Given the description of an element on the screen output the (x, y) to click on. 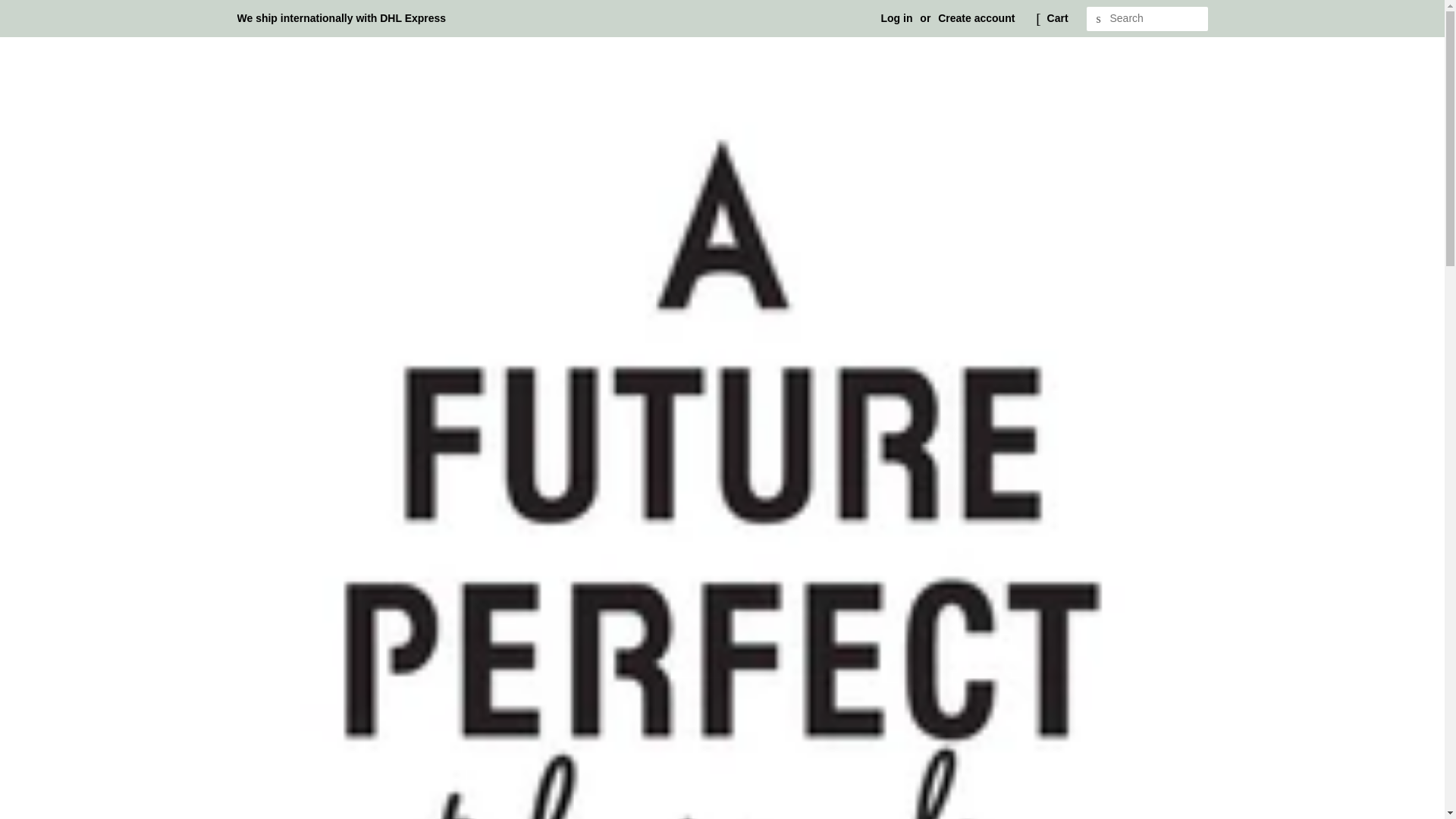
Cart (1057, 18)
Create account (975, 18)
Log in (896, 18)
Search (1097, 18)
